Given the description of an element on the screen output the (x, y) to click on. 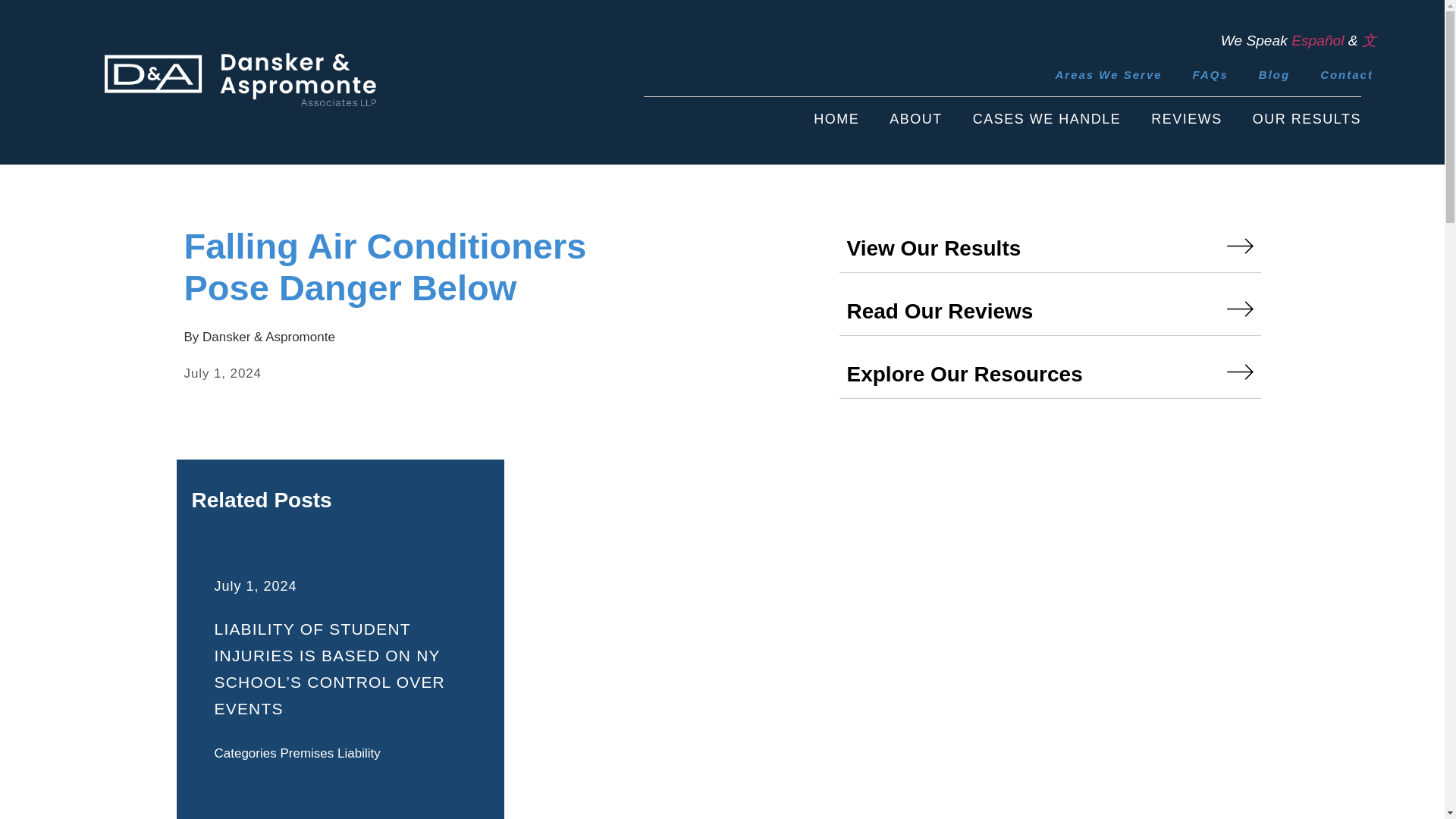
ABOUT (915, 118)
Contact (1346, 74)
Blog (1273, 74)
CASES WE HANDLE (1046, 118)
FAQs (1210, 74)
HOME (836, 118)
Areas We Serve (1107, 74)
